Given the description of an element on the screen output the (x, y) to click on. 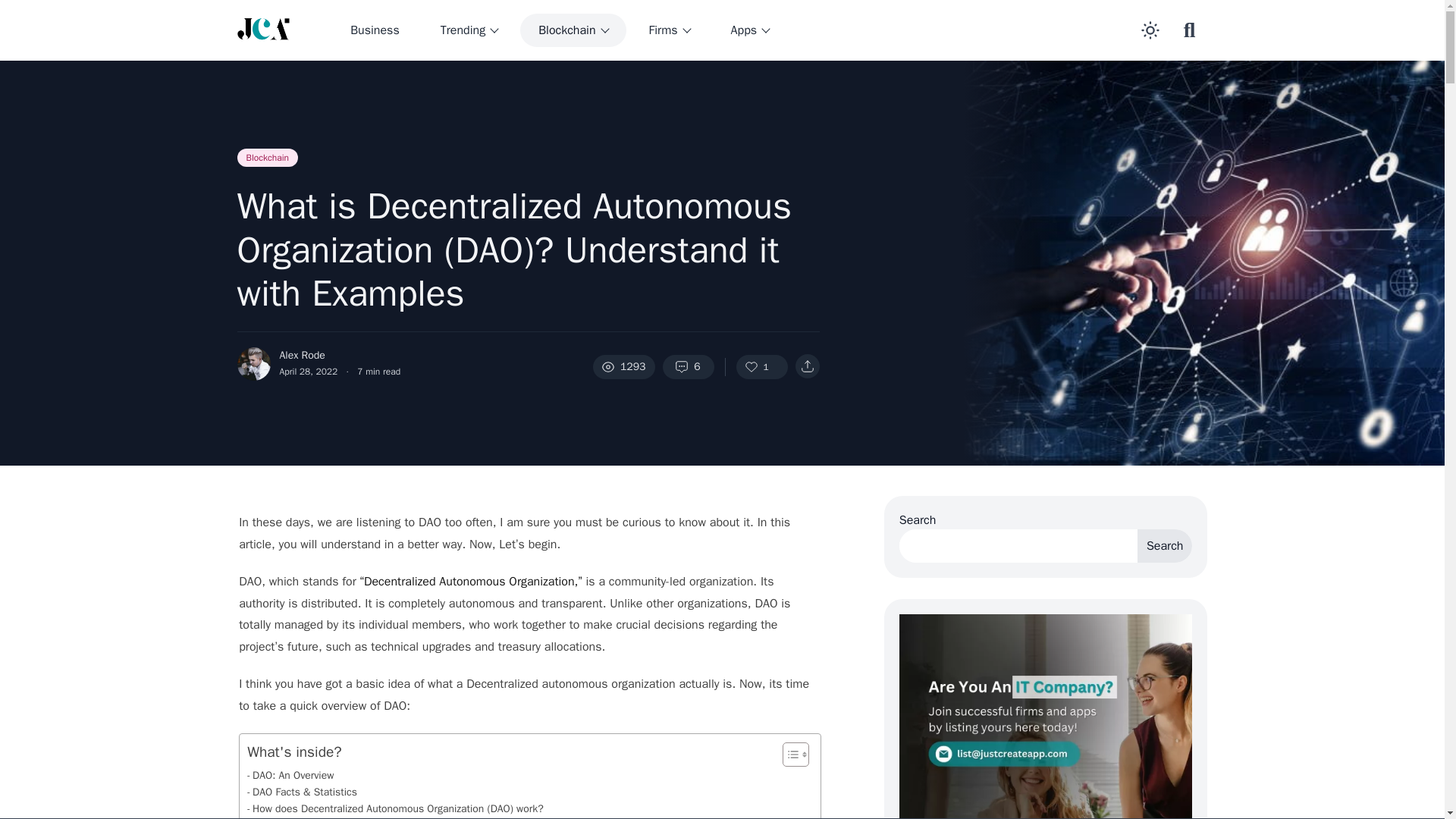
DAO: An Overview (290, 775)
Comments (688, 366)
Business (374, 29)
Why do we need DAOs? (304, 818)
Views (623, 366)
Share with (806, 365)
Blockchain (572, 29)
Trending (468, 29)
Firms (668, 29)
